Given the description of an element on the screen output the (x, y) to click on. 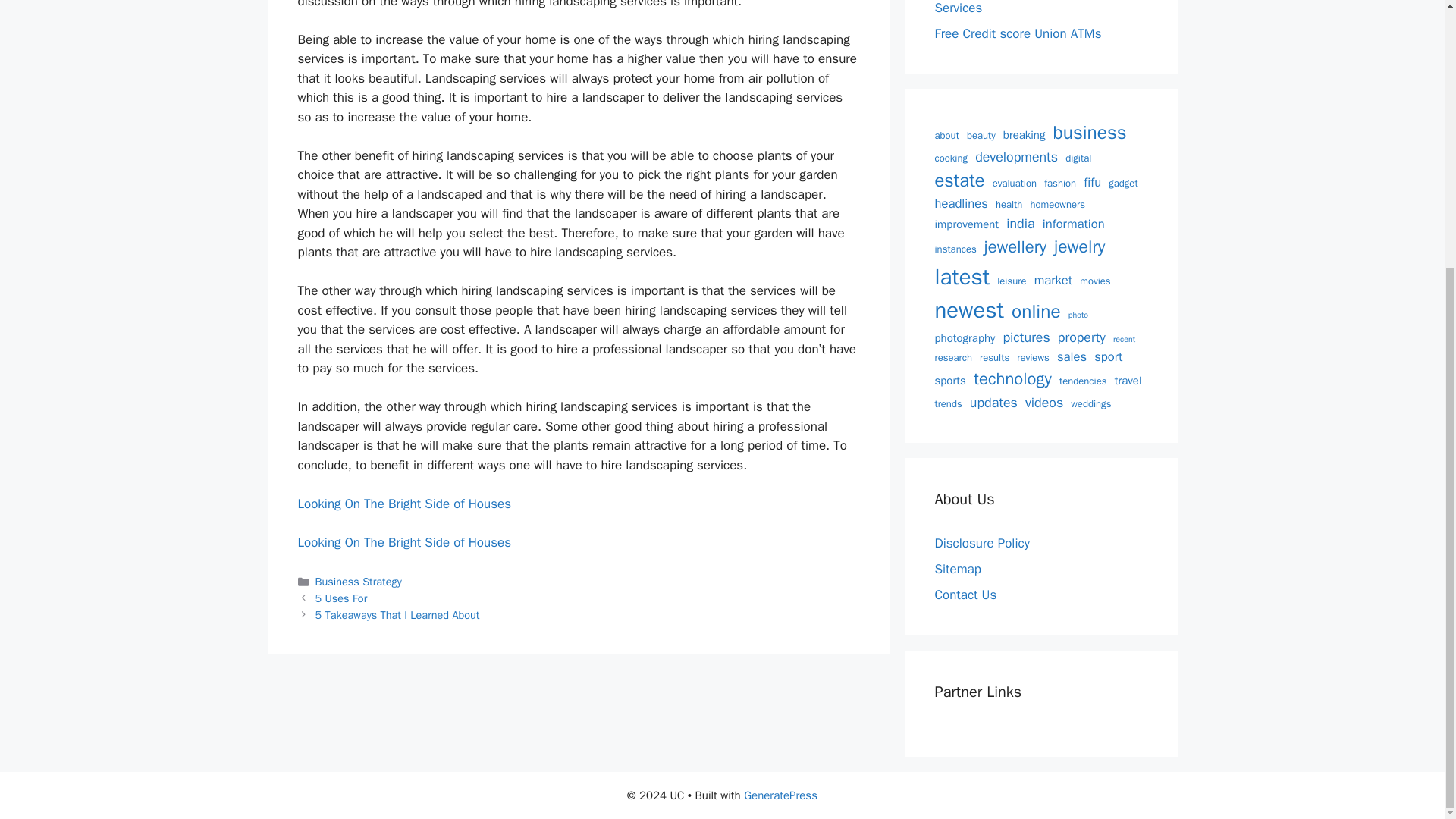
developments (1016, 157)
evaluation (1014, 183)
jewelry (1079, 247)
india (1019, 223)
jewellery (1015, 247)
5 Takeaways That I Learned About (397, 614)
instances (954, 249)
improvement (966, 224)
business (1089, 132)
cooking (951, 158)
fashion (1059, 183)
digital (1077, 158)
information (1073, 224)
beauty (980, 135)
estate (959, 180)
